Given the description of an element on the screen output the (x, y) to click on. 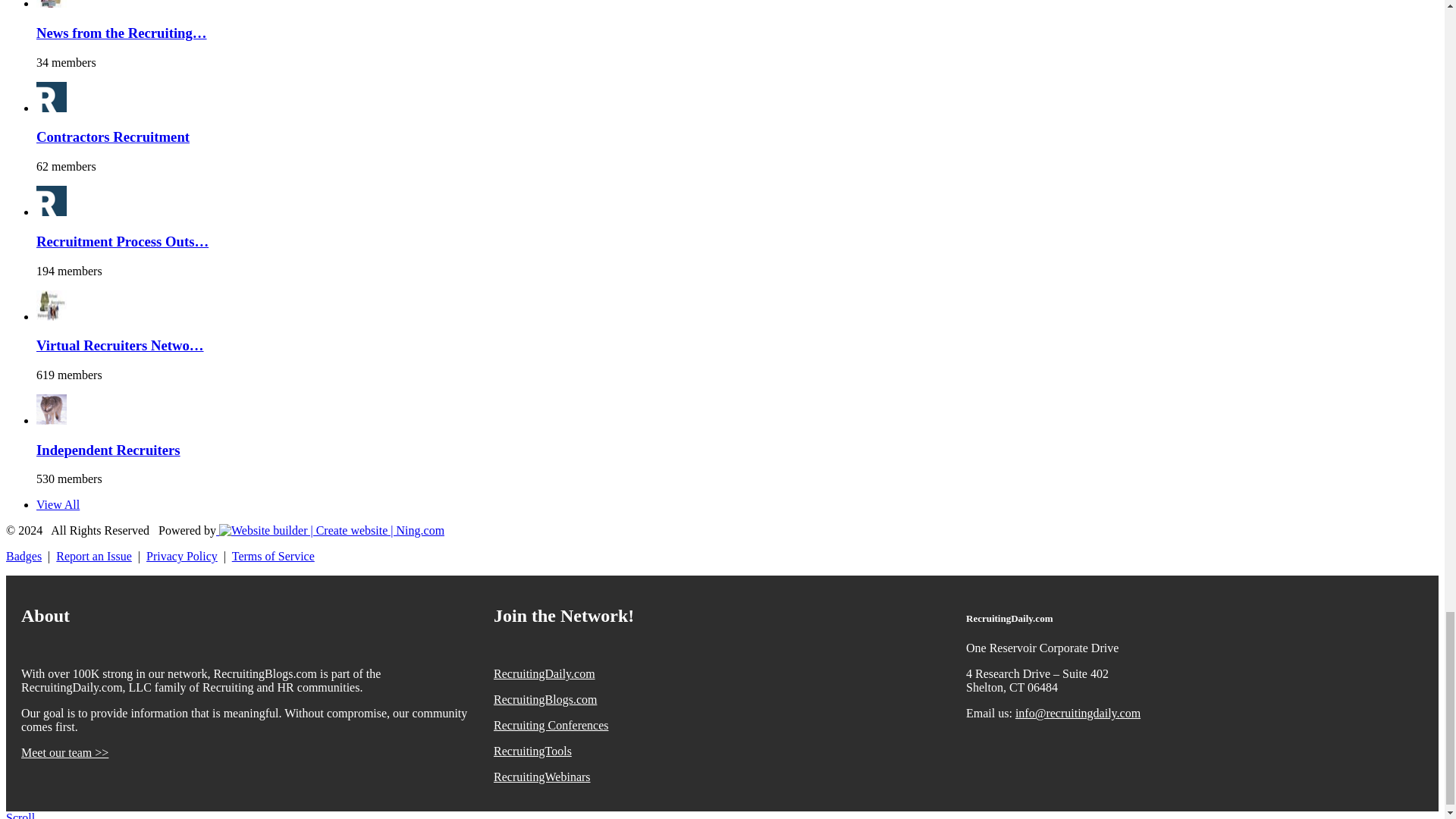
Ning Website Builder (331, 530)
